Given the description of an element on the screen output the (x, y) to click on. 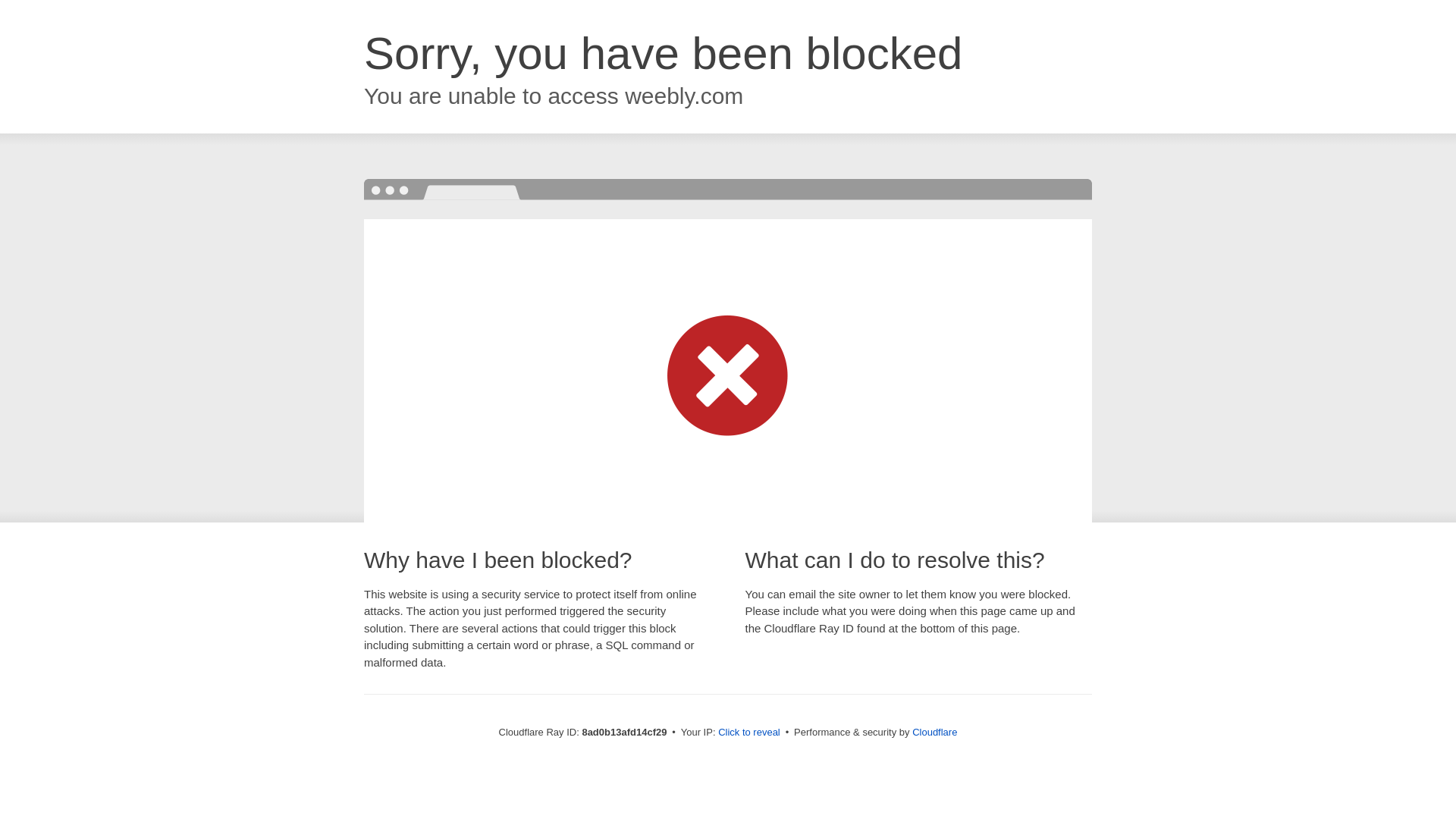
Click to reveal (748, 732)
Cloudflare (934, 731)
